Given the description of an element on the screen output the (x, y) to click on. 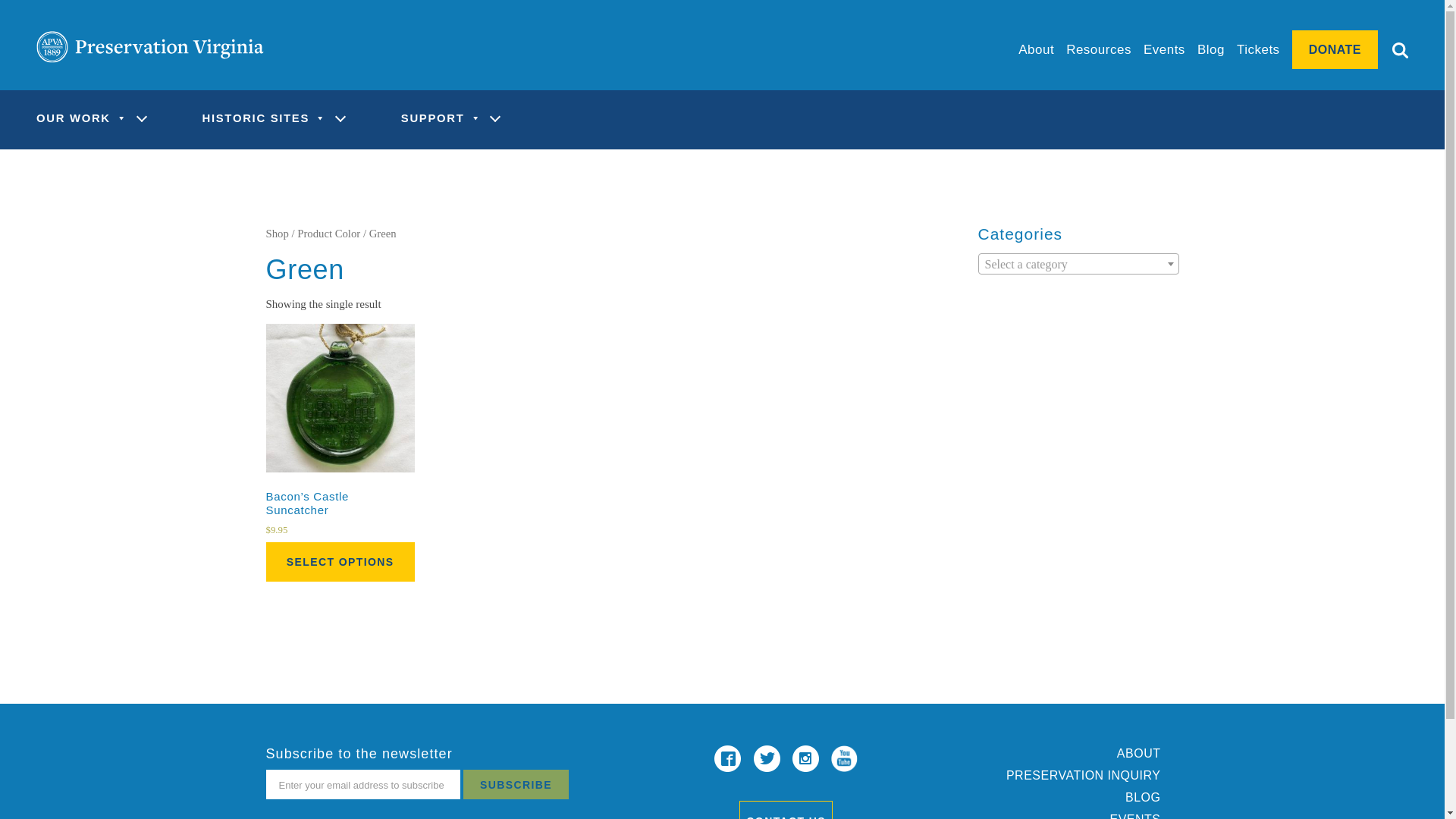
Blog (1210, 49)
Events (1164, 49)
About (1035, 49)
Submit (1392, 51)
Resources (1098, 49)
DONATE (1334, 49)
Tickets (1257, 49)
Subscribe (516, 784)
OUR WORK (82, 119)
Resources (1098, 49)
About (1035, 49)
Events (1164, 49)
